Given the description of an element on the screen output the (x, y) to click on. 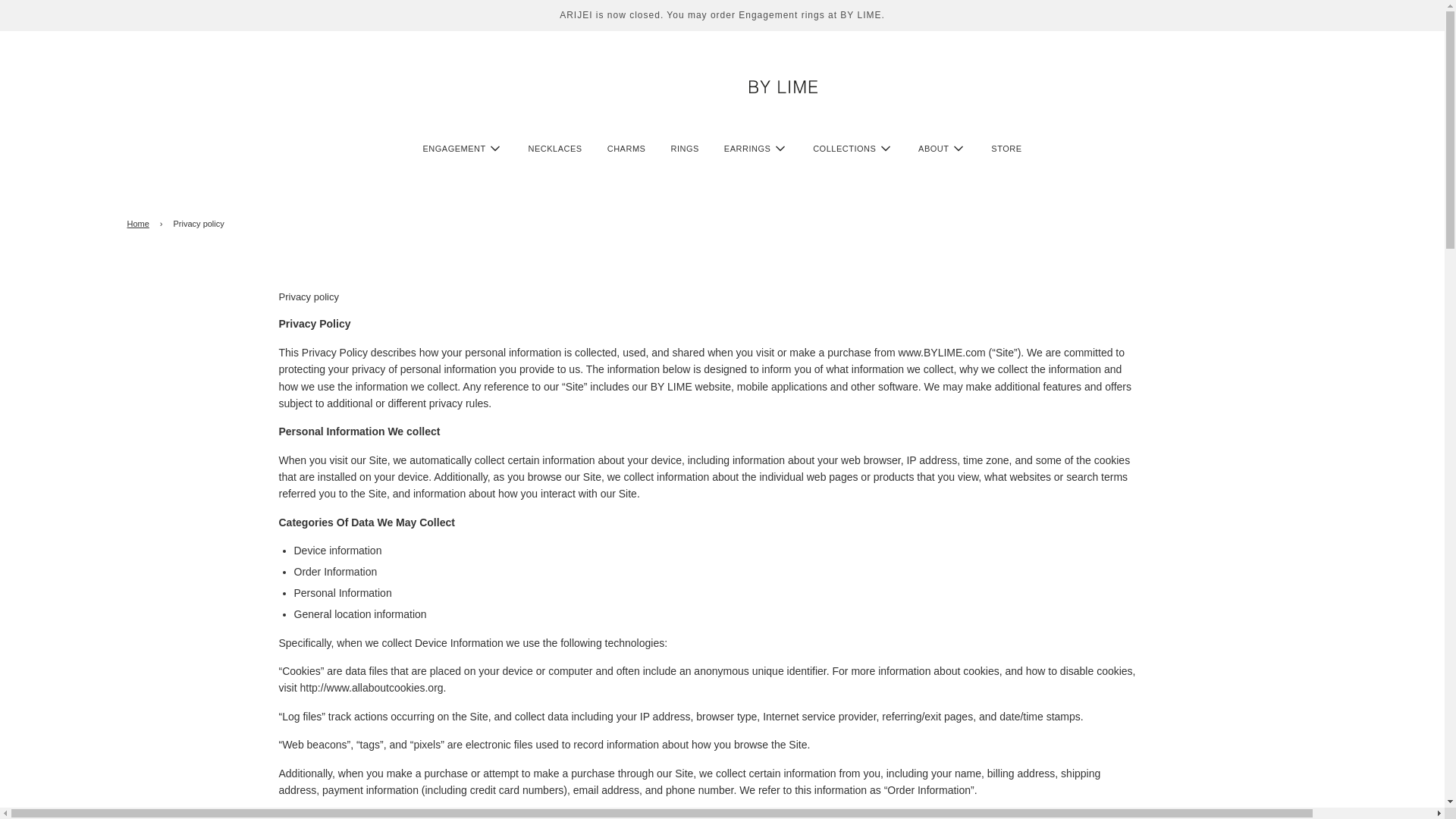
Back to the frontpage (141, 223)
